Given the description of an element on the screen output the (x, y) to click on. 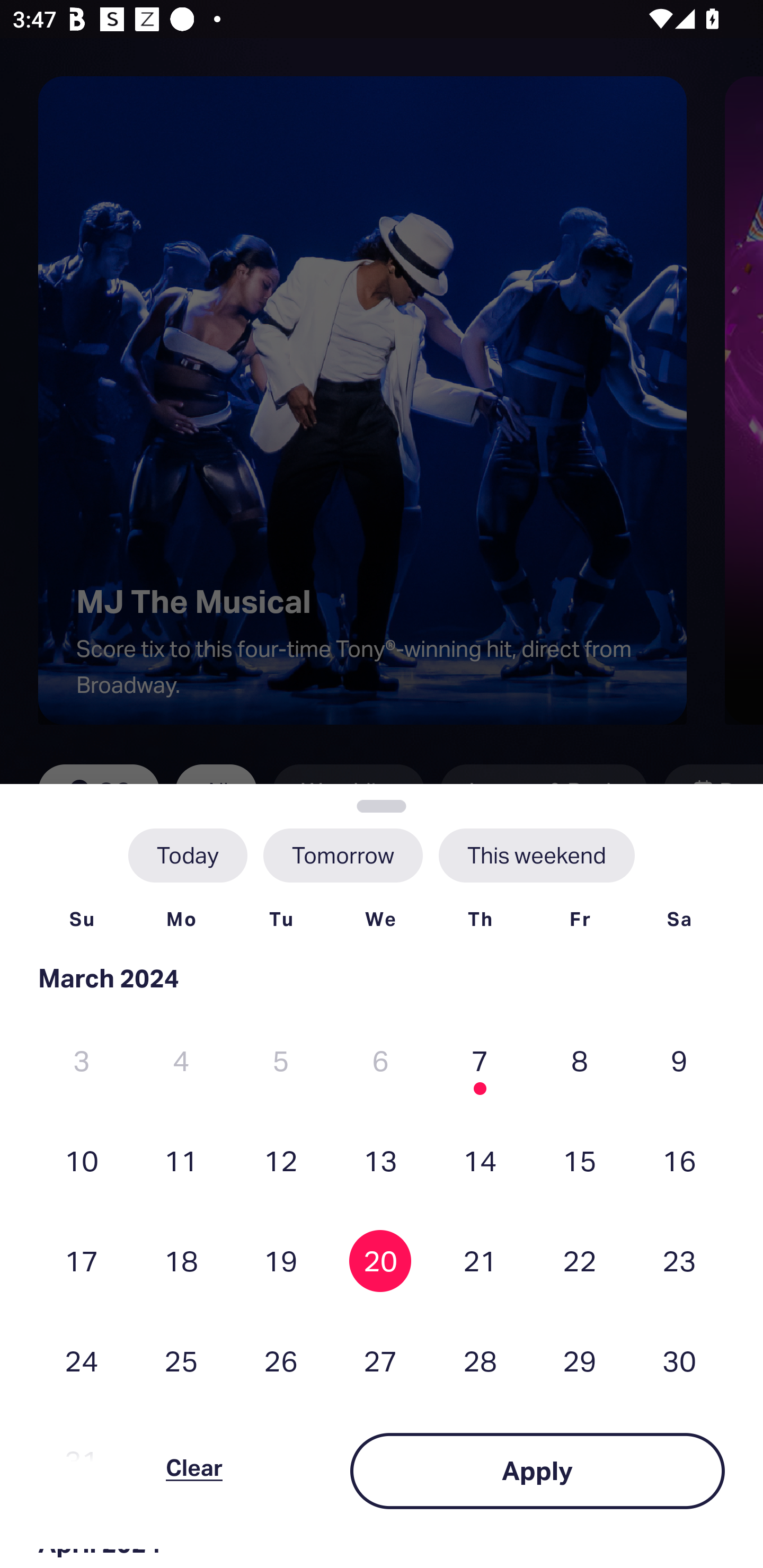
Today (187, 854)
Tomorrow (342, 854)
This weekend (536, 854)
3 (81, 1060)
4 (181, 1060)
5 (280, 1060)
6 (380, 1060)
7 (479, 1060)
8 (579, 1060)
9 (678, 1060)
10 (81, 1160)
11 (181, 1160)
12 (280, 1160)
13 (380, 1160)
14 (479, 1160)
15 (579, 1160)
16 (678, 1160)
17 (81, 1260)
18 (181, 1260)
19 (280, 1260)
20 (380, 1260)
21 (479, 1260)
22 (579, 1260)
23 (678, 1260)
24 (81, 1360)
25 (181, 1360)
26 (280, 1360)
27 (380, 1360)
28 (479, 1360)
29 (579, 1360)
30 (678, 1360)
Clear (194, 1470)
Apply (537, 1470)
